Given the description of an element on the screen output the (x, y) to click on. 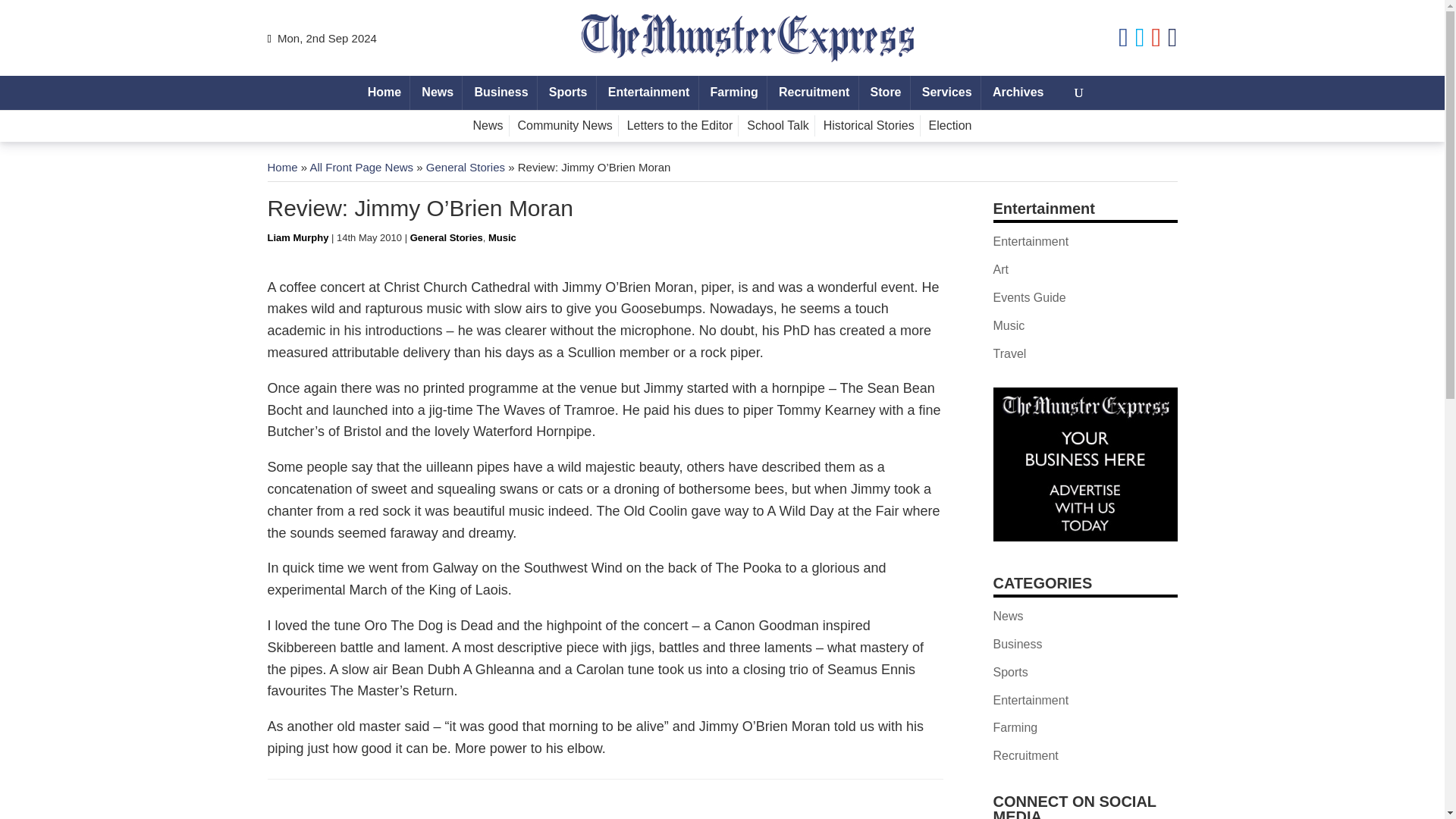
Store (884, 92)
Home (281, 166)
Liam Murphy (297, 237)
Election (949, 125)
Posts by Liam Murphy (297, 237)
School Talk (778, 125)
Community News (564, 125)
Recruitment (814, 92)
Services (946, 92)
Business (501, 92)
